Given the description of an element on the screen output the (x, y) to click on. 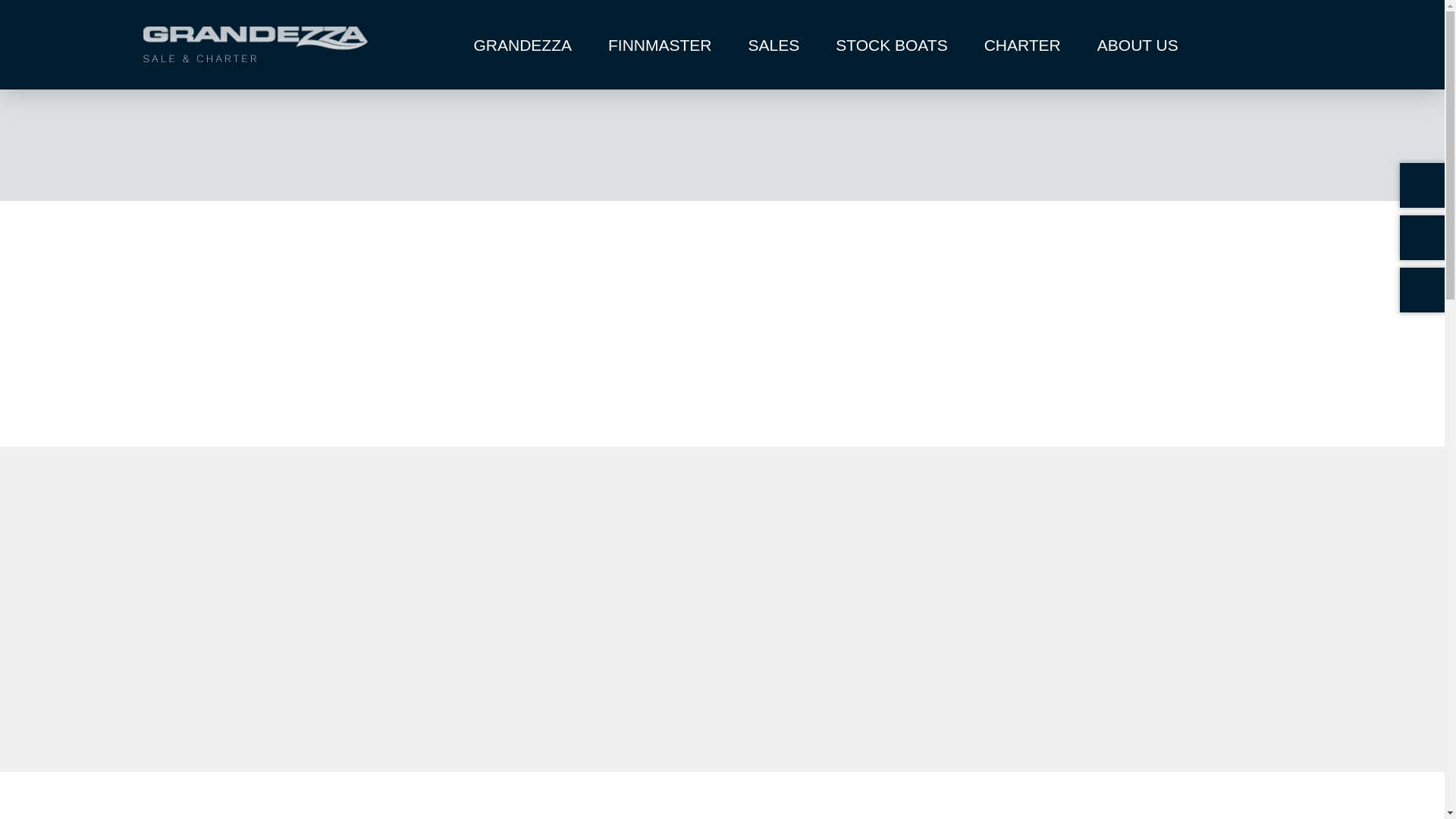
SALES (773, 43)
Grandezza (522, 43)
ABOUT US (1137, 43)
Charter (1022, 43)
GRANDEZZA (522, 43)
Stock Boats (891, 43)
FINNMASTER (659, 43)
STOCK BOATS (891, 43)
Finnmaster (659, 43)
Sales (773, 43)
